Given the description of an element on the screen output the (x, y) to click on. 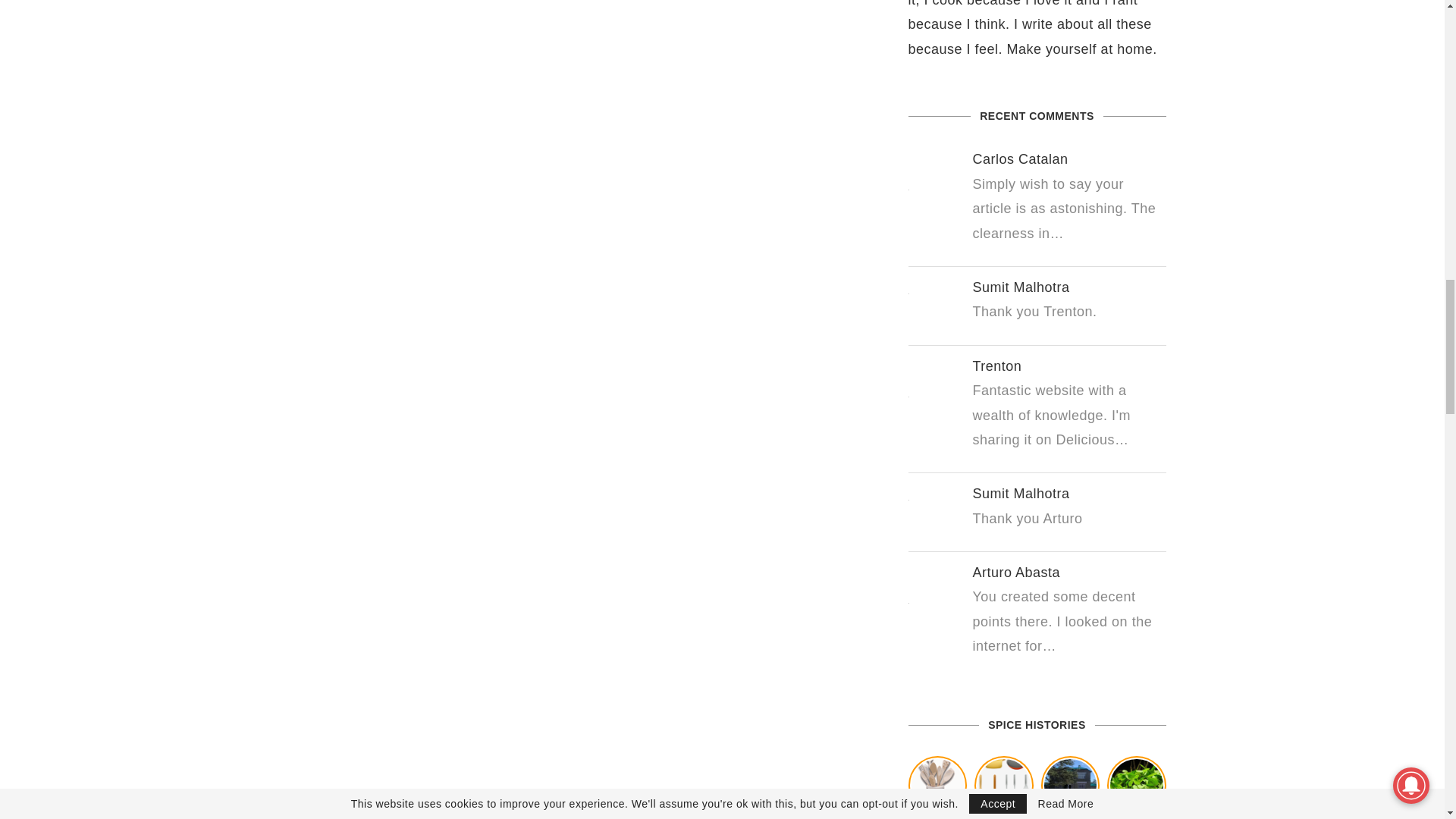
The Best Kitchen Essentials List for Anyone Who Cooks (1003, 785)
